Given the description of an element on the screen output the (x, y) to click on. 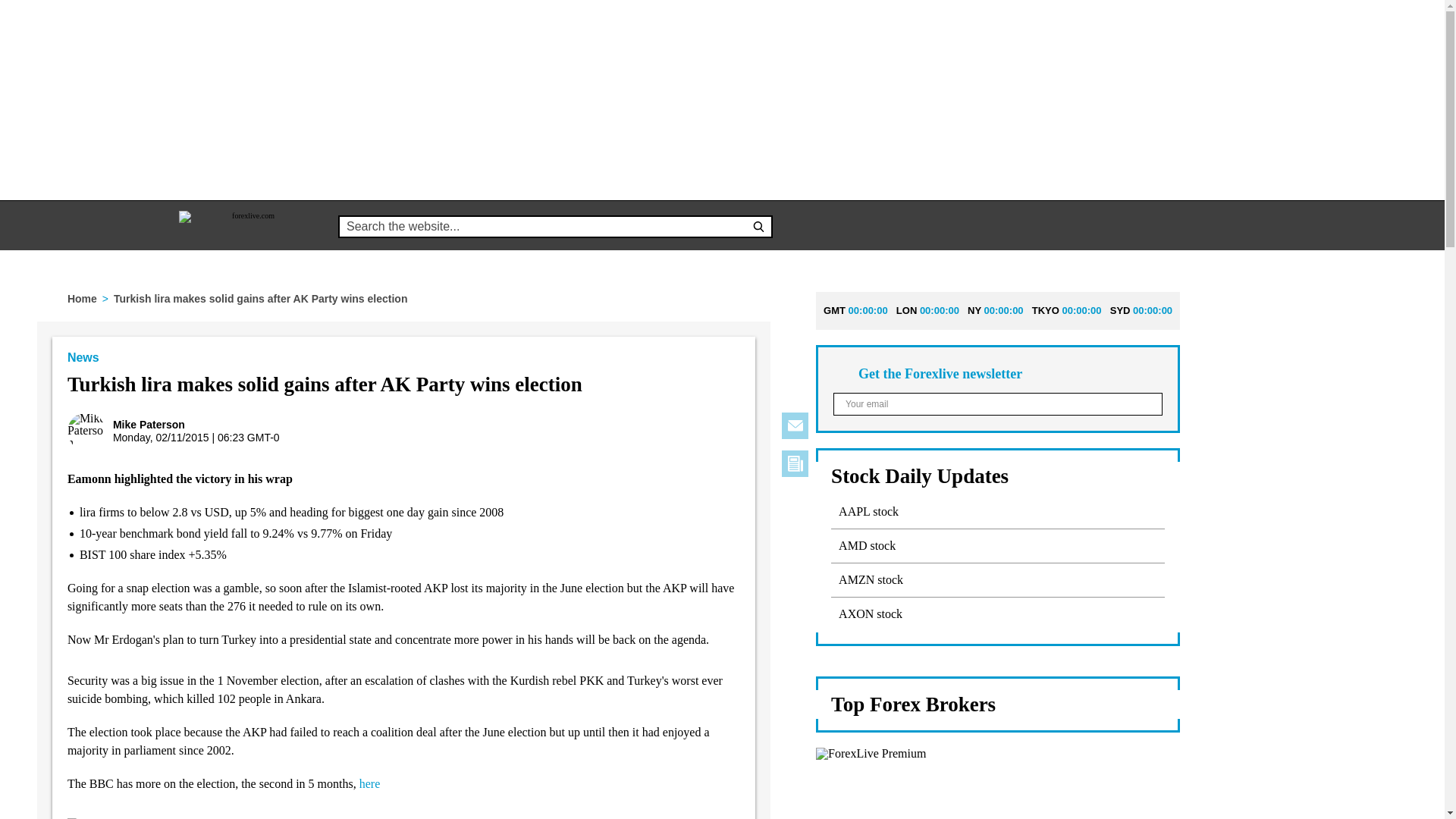
Turkish lira makes solid gains after AK Party wins election (726, 440)
Turkish lira makes solid gains after AK Party wins election (676, 440)
